Given the description of an element on the screen output the (x, y) to click on. 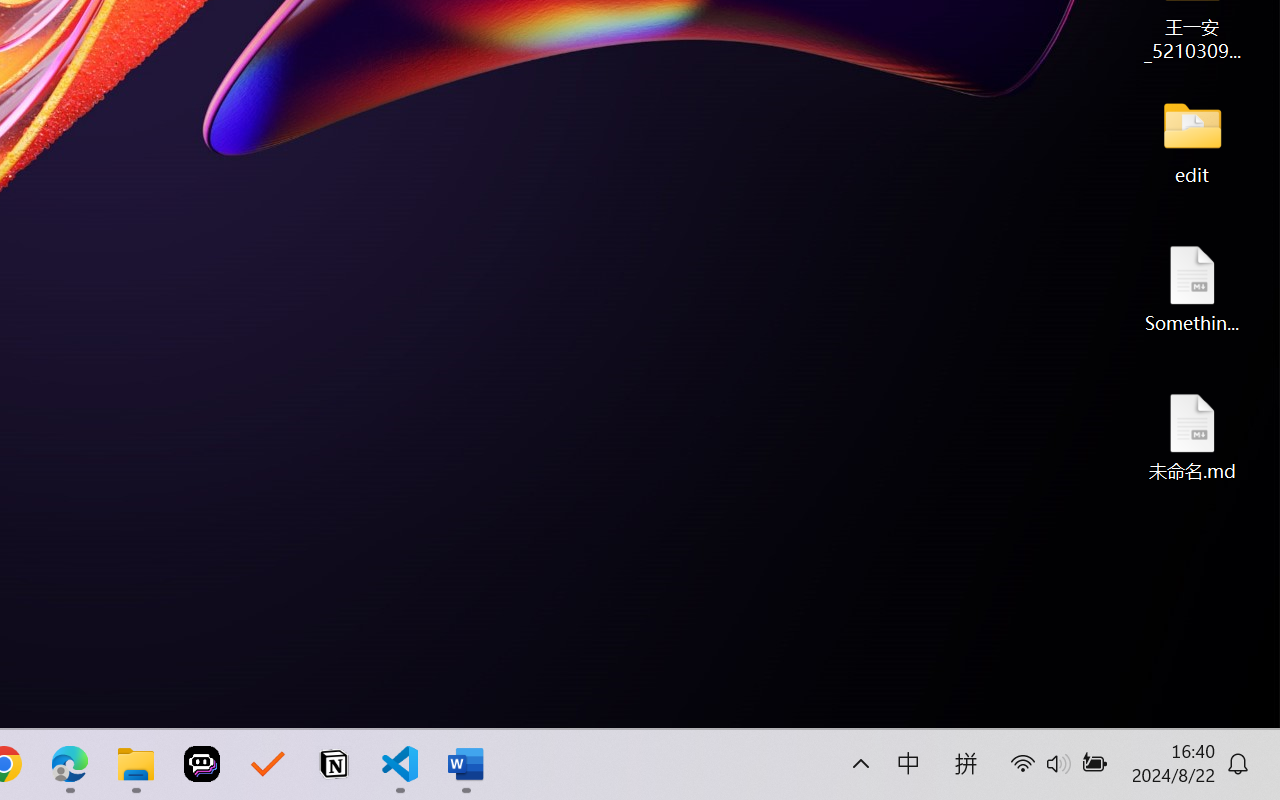
Something.md (1192, 288)
